Given the description of an element on the screen output the (x, y) to click on. 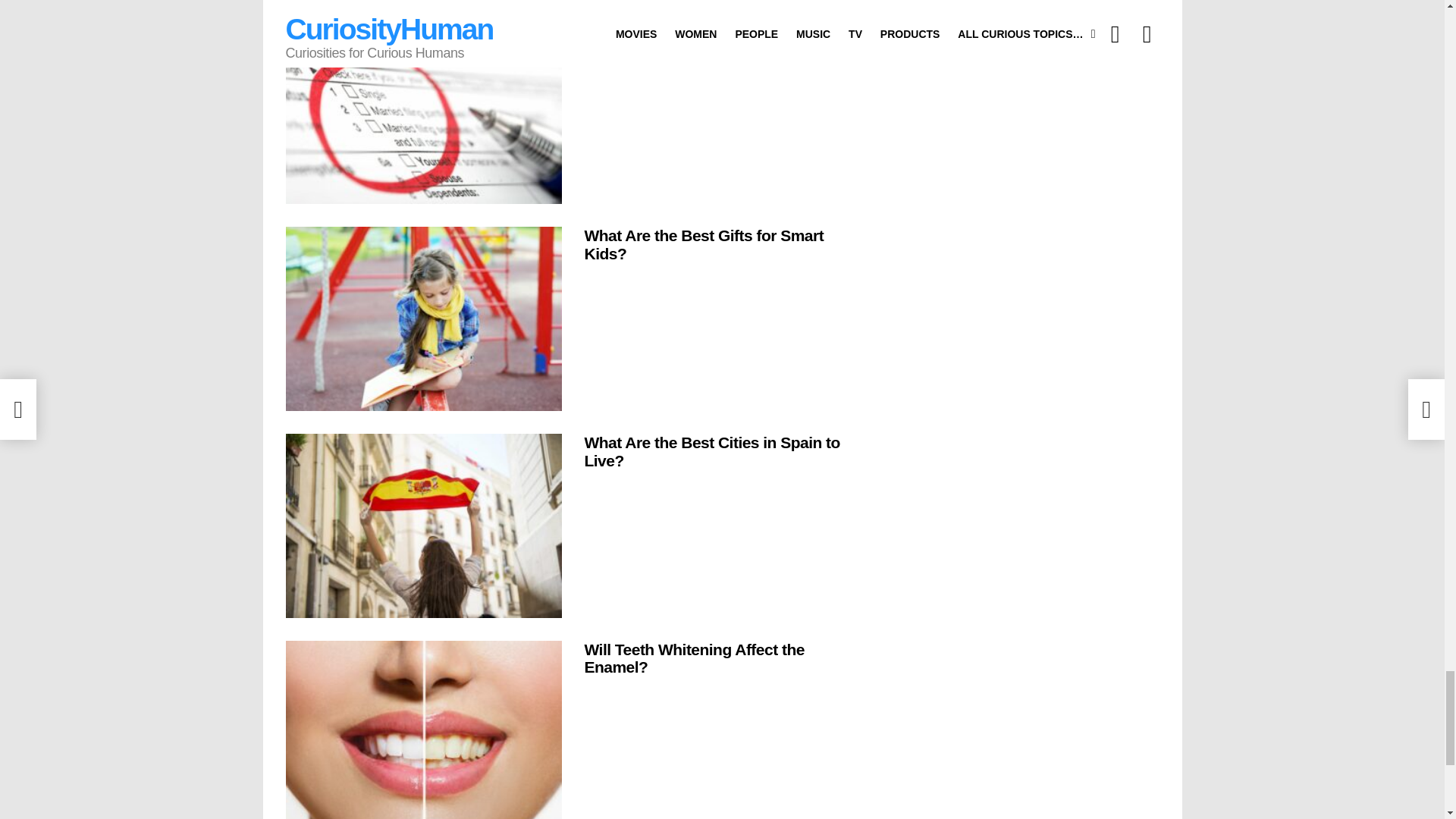
Will Teeth Whitening Affect the Enamel? (422, 729)
What Are the Best Gifts for Smart Kids? (422, 318)
What Are the Best Cities in Spain to Live? (422, 526)
Can You Go to Jail for Filing Single When Married? (422, 112)
